Given the description of an element on the screen output the (x, y) to click on. 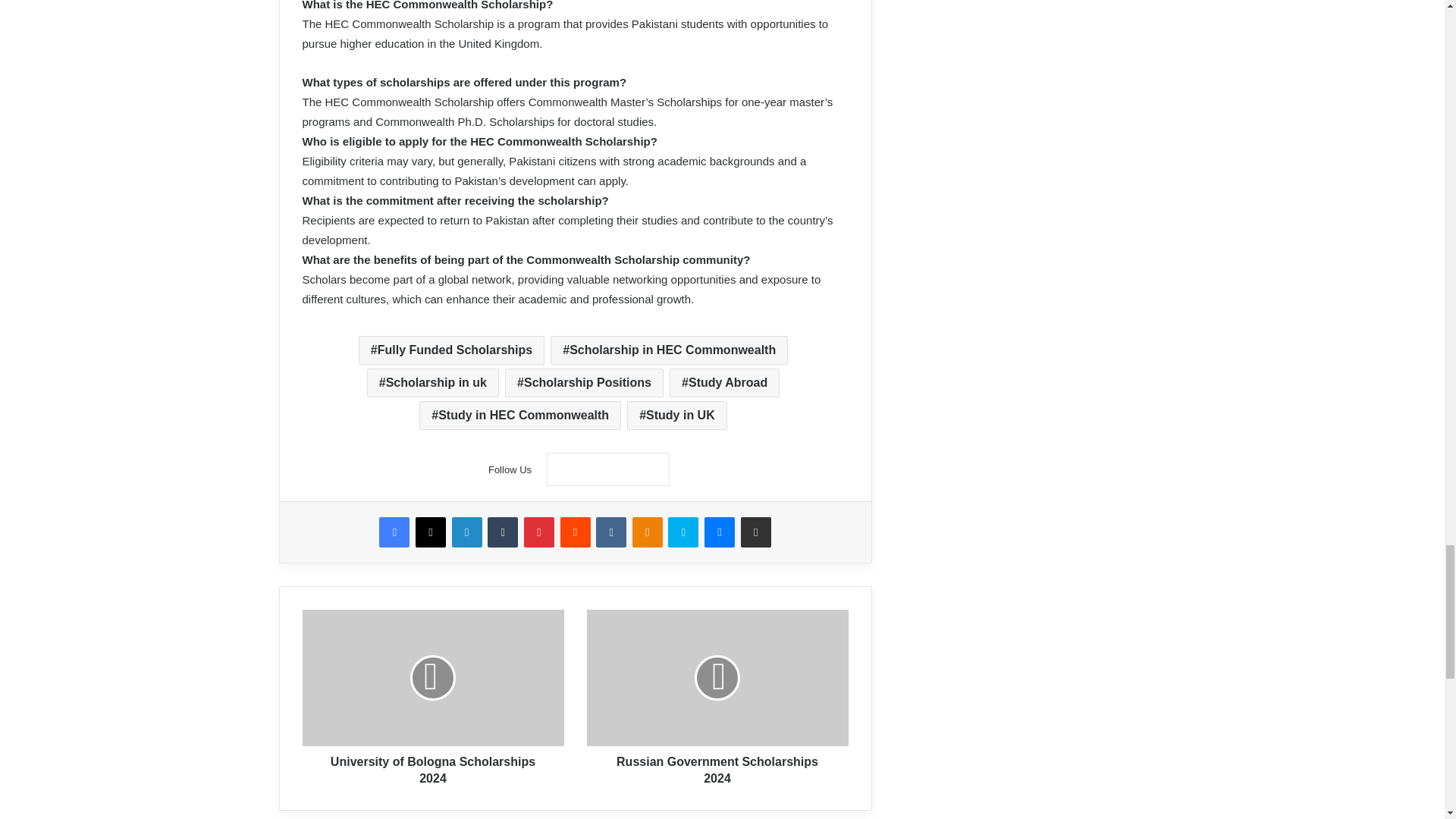
Fully Funded Scholarships (451, 349)
VKontakte (610, 531)
Tumblr (502, 531)
LinkedIn (466, 531)
Facebook (393, 531)
Scholarship in HEC Commonwealth (668, 349)
Reddit (574, 531)
Scholarship in uk (432, 382)
Messenger (719, 531)
Odnoklassniki (646, 531)
Google News (608, 469)
Skype (683, 531)
X (429, 531)
Pinterest (539, 531)
